Given the description of an element on the screen output the (x, y) to click on. 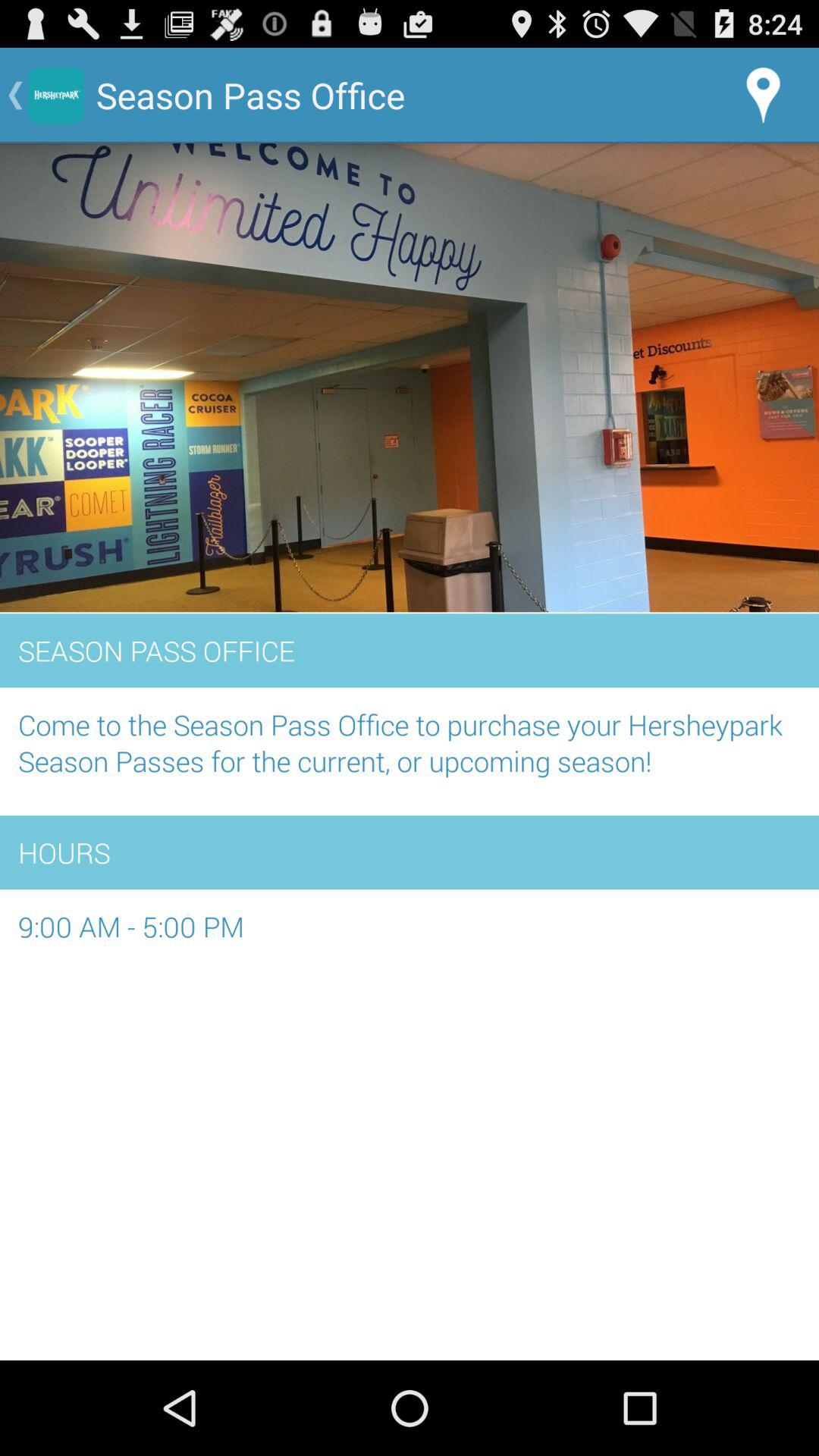
turn off the icon above the 9 00 am icon (409, 852)
